Given the description of an element on the screen output the (x, y) to click on. 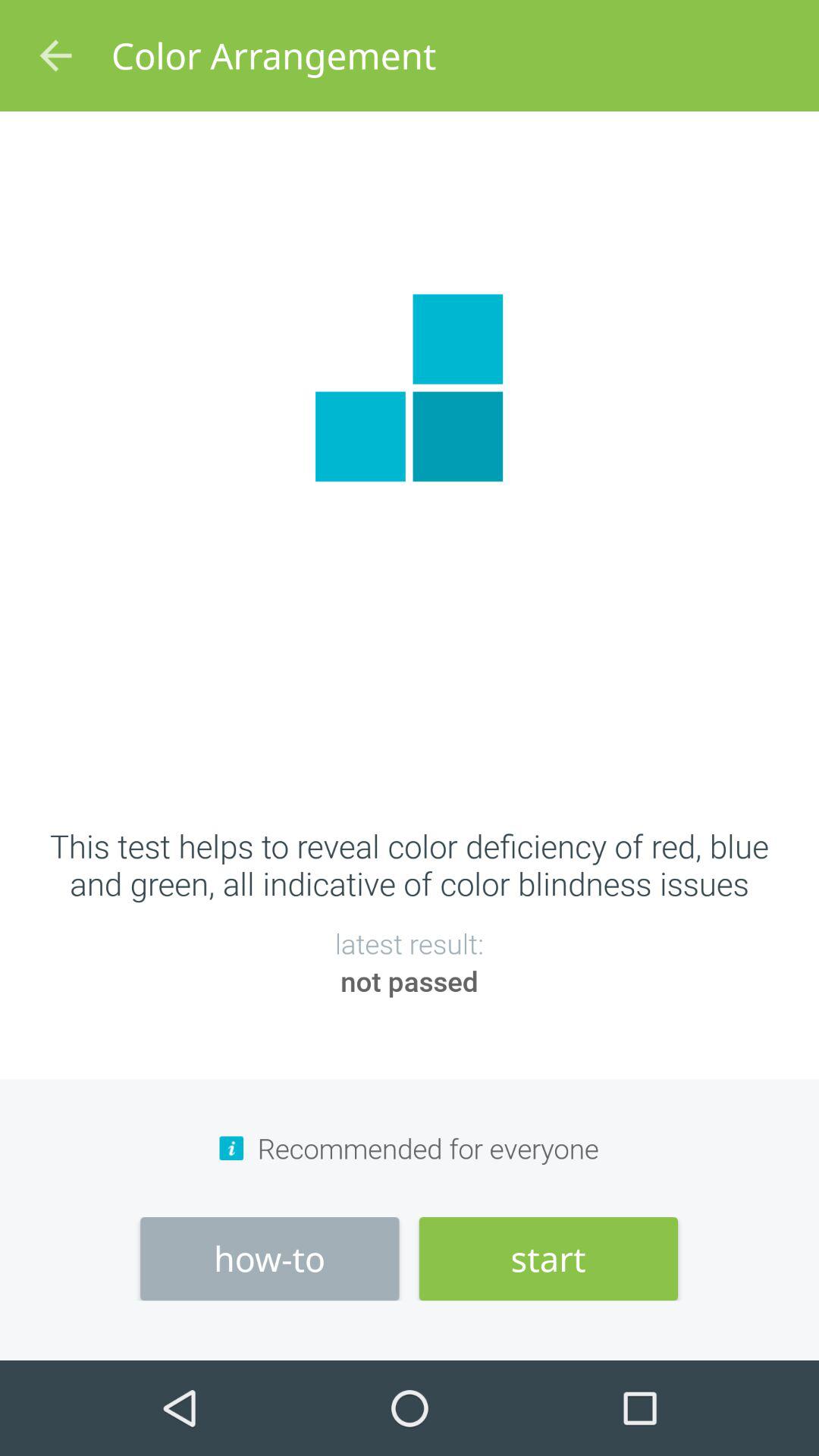
press icon above this test helps (55, 55)
